Given the description of an element on the screen output the (x, y) to click on. 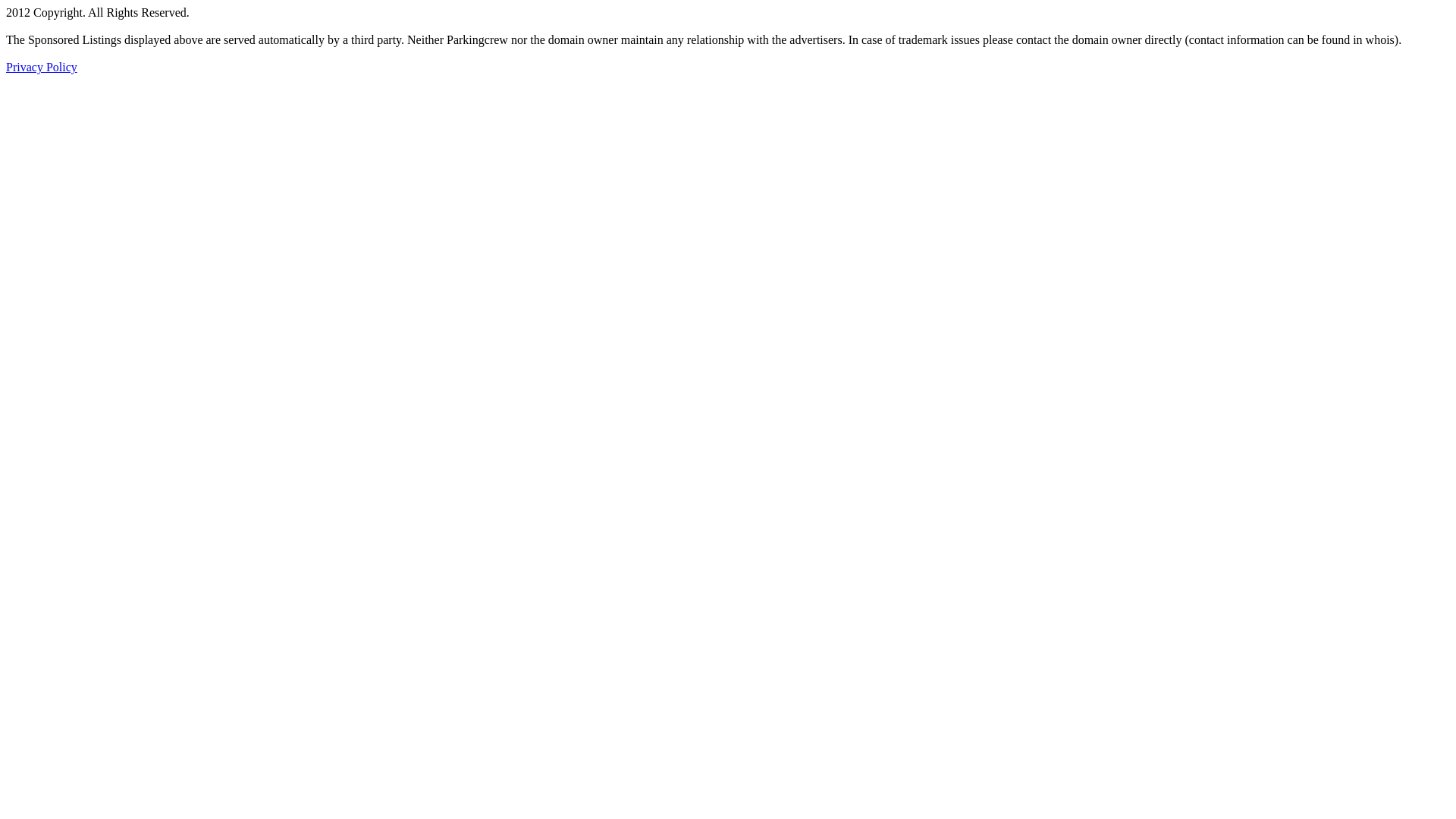
Privacy Policy Element type: text (41, 66)
